Given the description of an element on the screen output the (x, y) to click on. 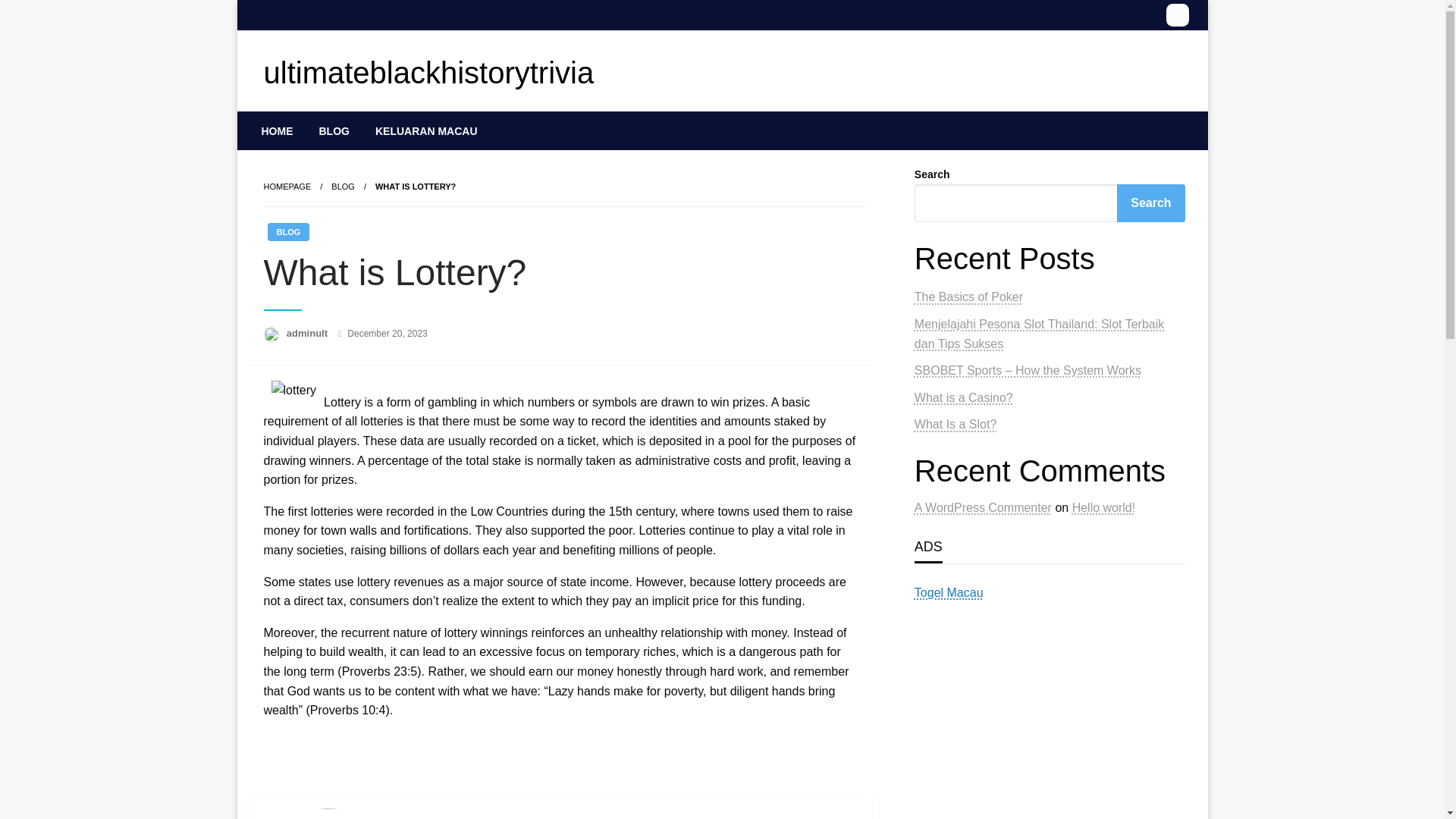
What is a Casino? (963, 397)
adminult (308, 333)
A WordPress Commenter (982, 507)
BLOG (333, 130)
HOMEPAGE (287, 185)
December 20, 2023 (386, 333)
The Basics of Poker (968, 296)
HOME (276, 130)
Blog (343, 185)
adminult (308, 333)
BLOG (343, 185)
Search (1150, 202)
BLOG (287, 231)
KELUARAN MACAU (426, 130)
Homepage (287, 185)
